Given the description of an element on the screen output the (x, y) to click on. 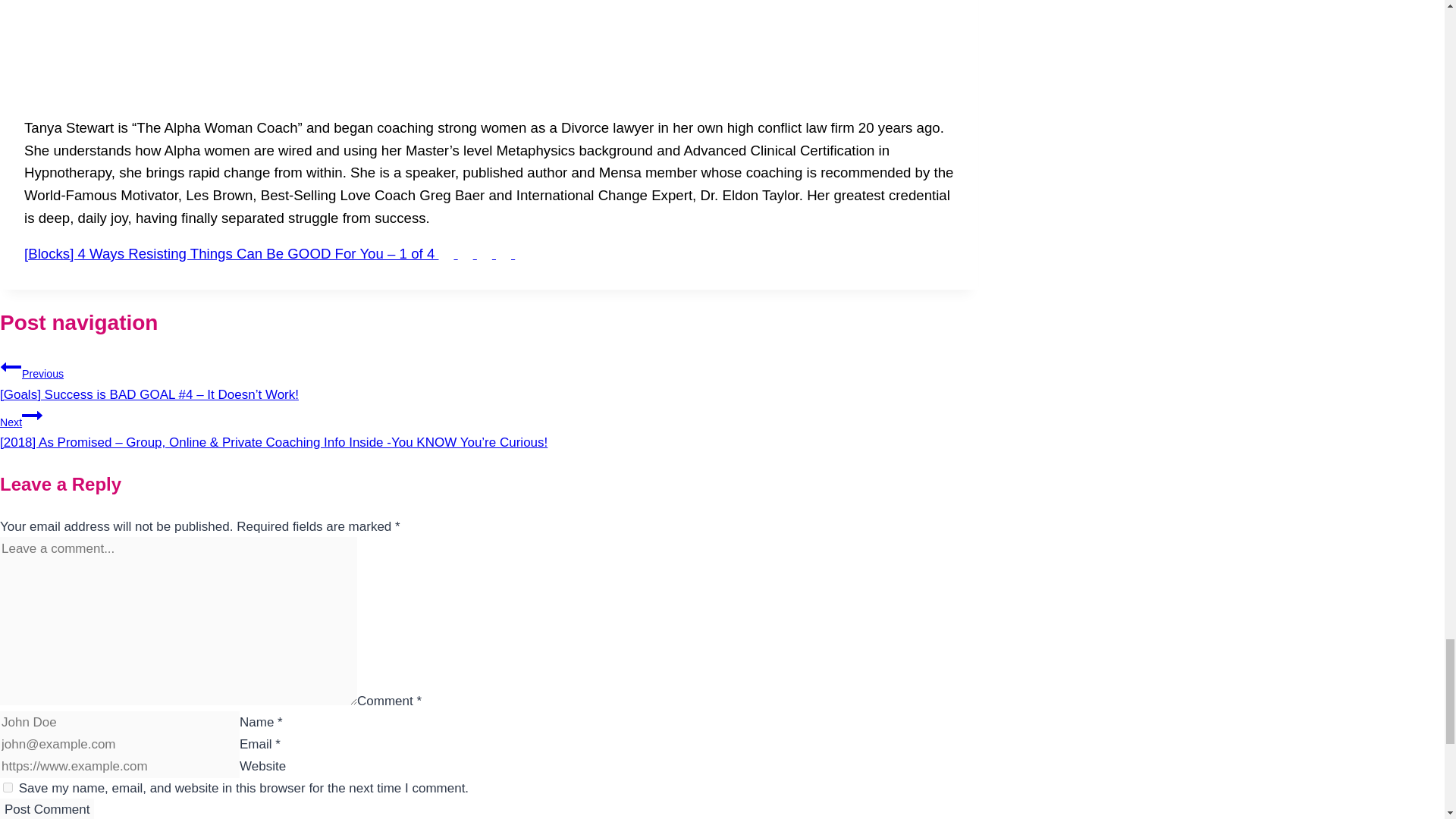
Previous (10, 366)
yes (7, 787)
Post Comment (47, 808)
Post Comment (47, 808)
Continue (31, 414)
